Given the description of an element on the screen output the (x, y) to click on. 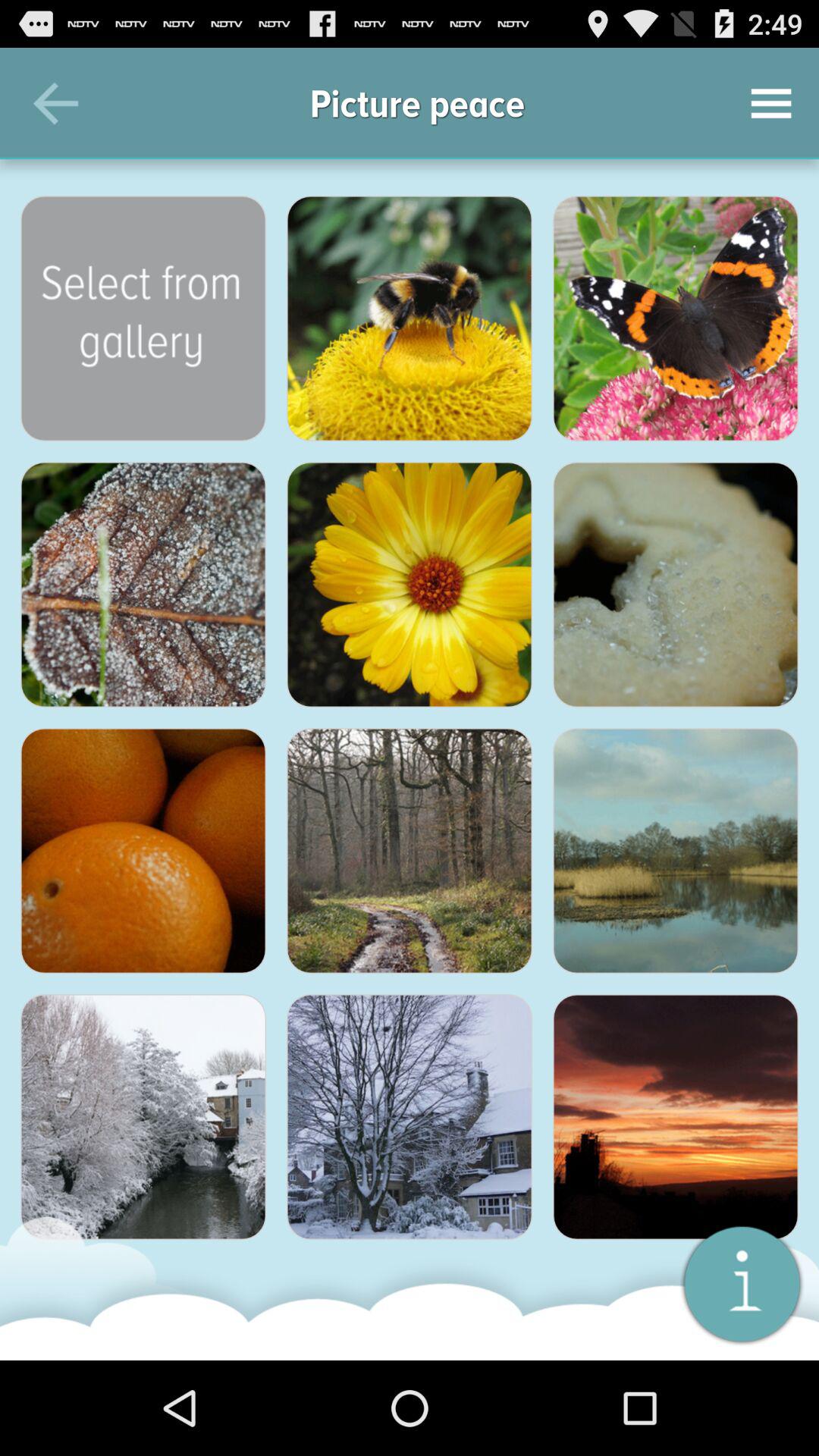
toggle emojios option (409, 318)
